Given the description of an element on the screen output the (x, y) to click on. 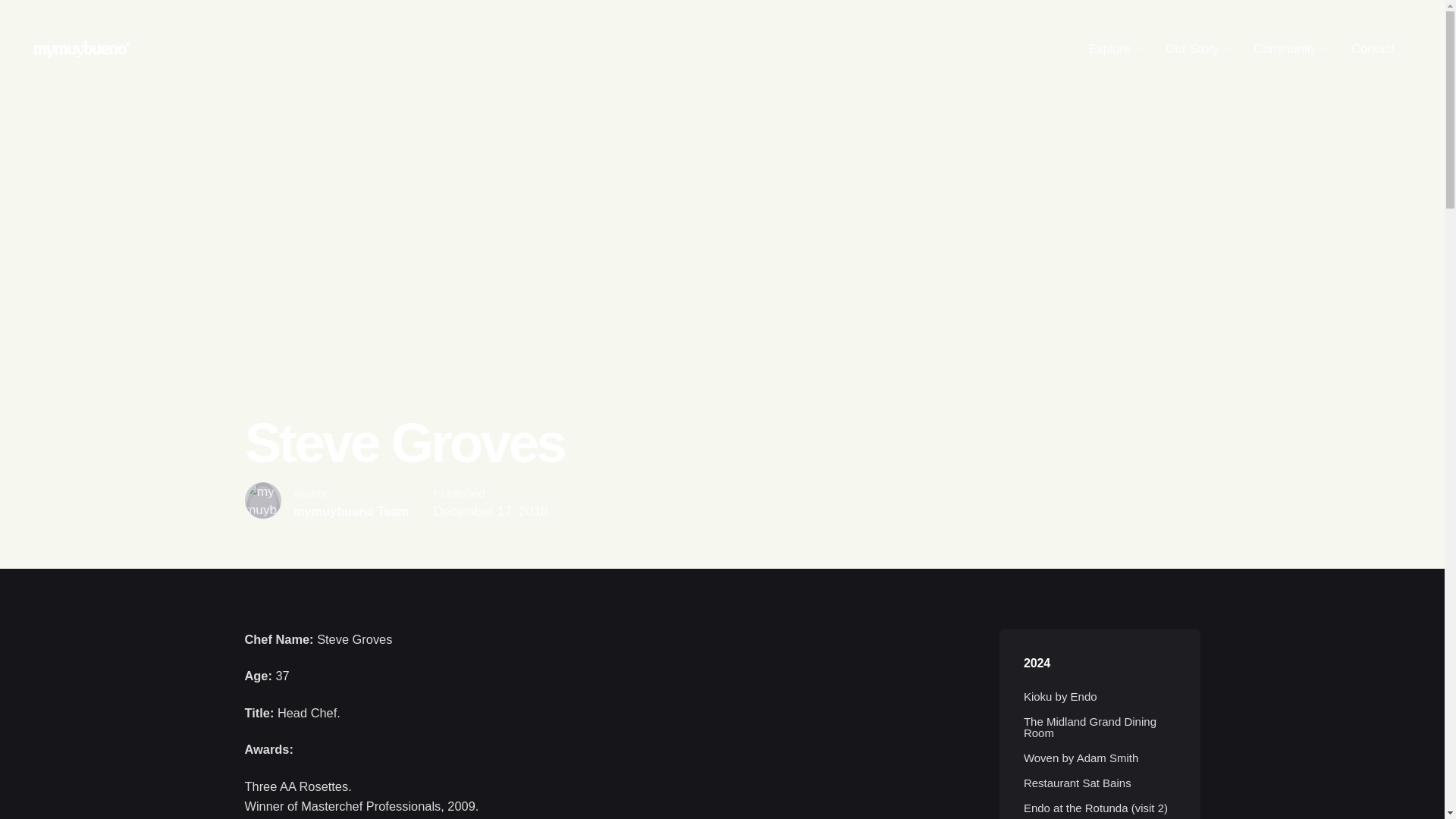
Our Story (1192, 49)
Explore (1109, 49)
Community (1284, 49)
Contact (1372, 49)
